Given the description of an element on the screen output the (x, y) to click on. 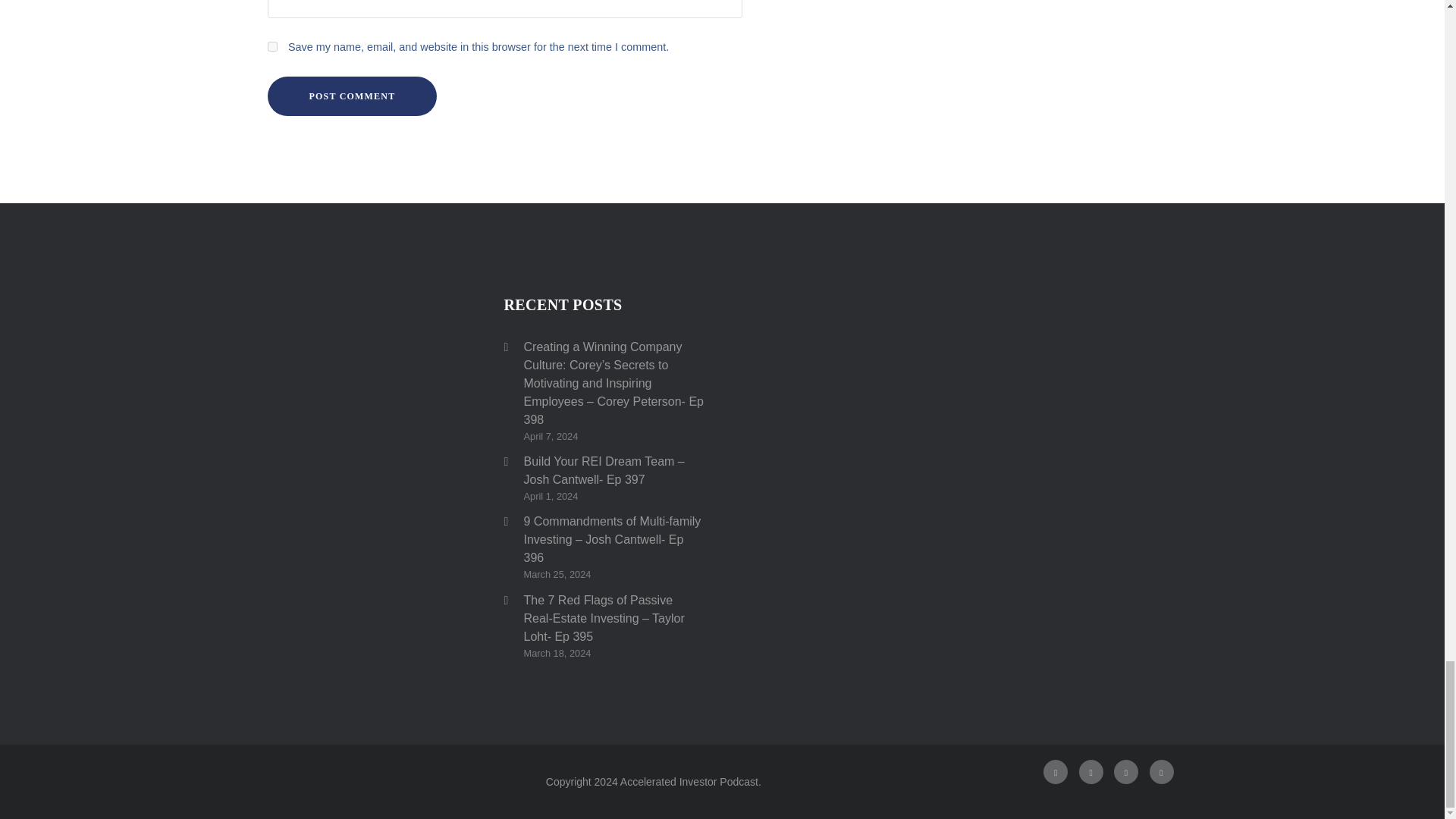
Post Comment (351, 96)
Soundcloud (1161, 771)
Podcast (1125, 771)
Facebook (1055, 771)
Instagram (1090, 771)
Post Comment (351, 96)
yes (271, 46)
